Given the description of an element on the screen output the (x, y) to click on. 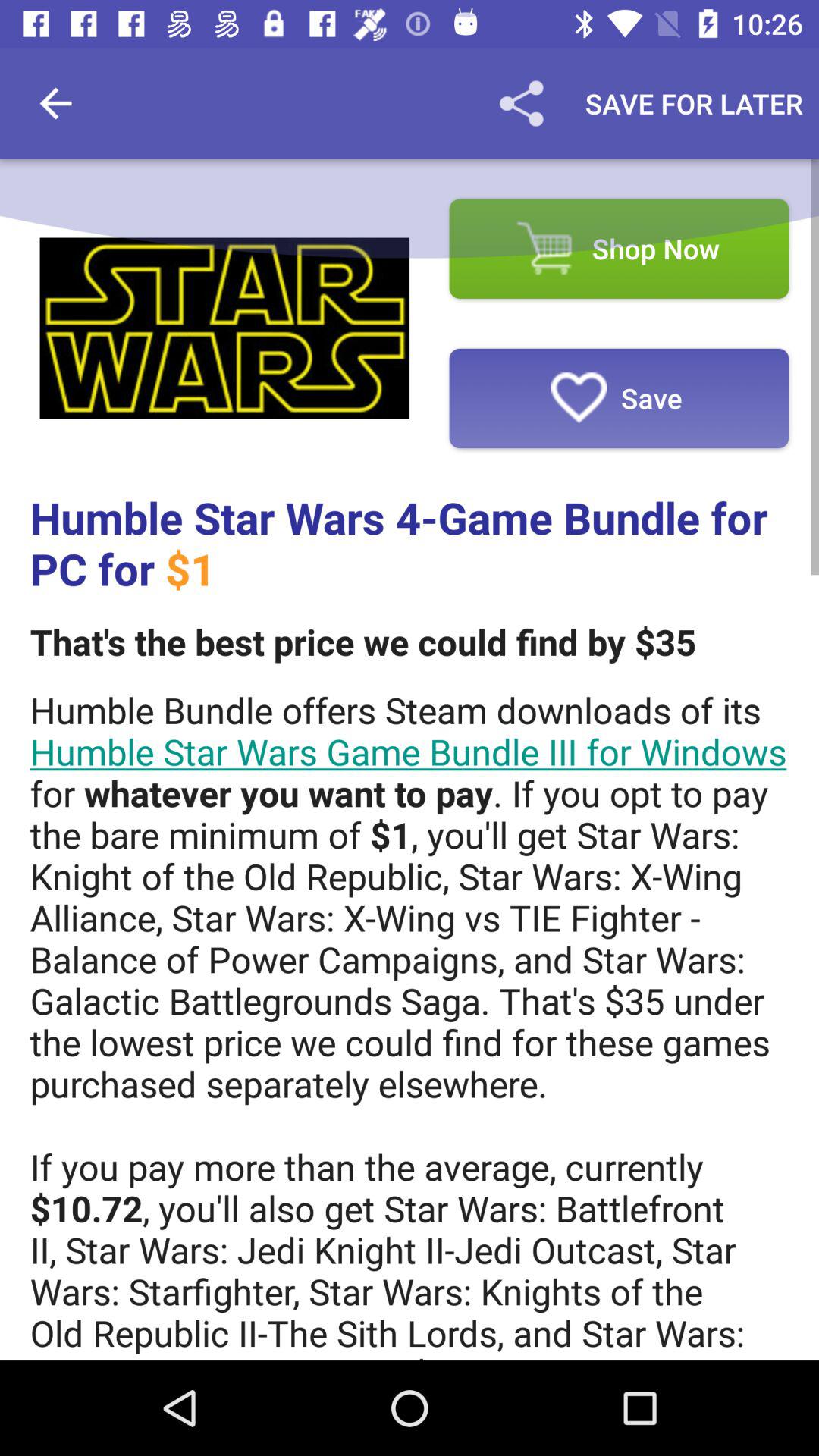
press the item to the left of save for later icon (521, 103)
